Given the description of an element on the screen output the (x, y) to click on. 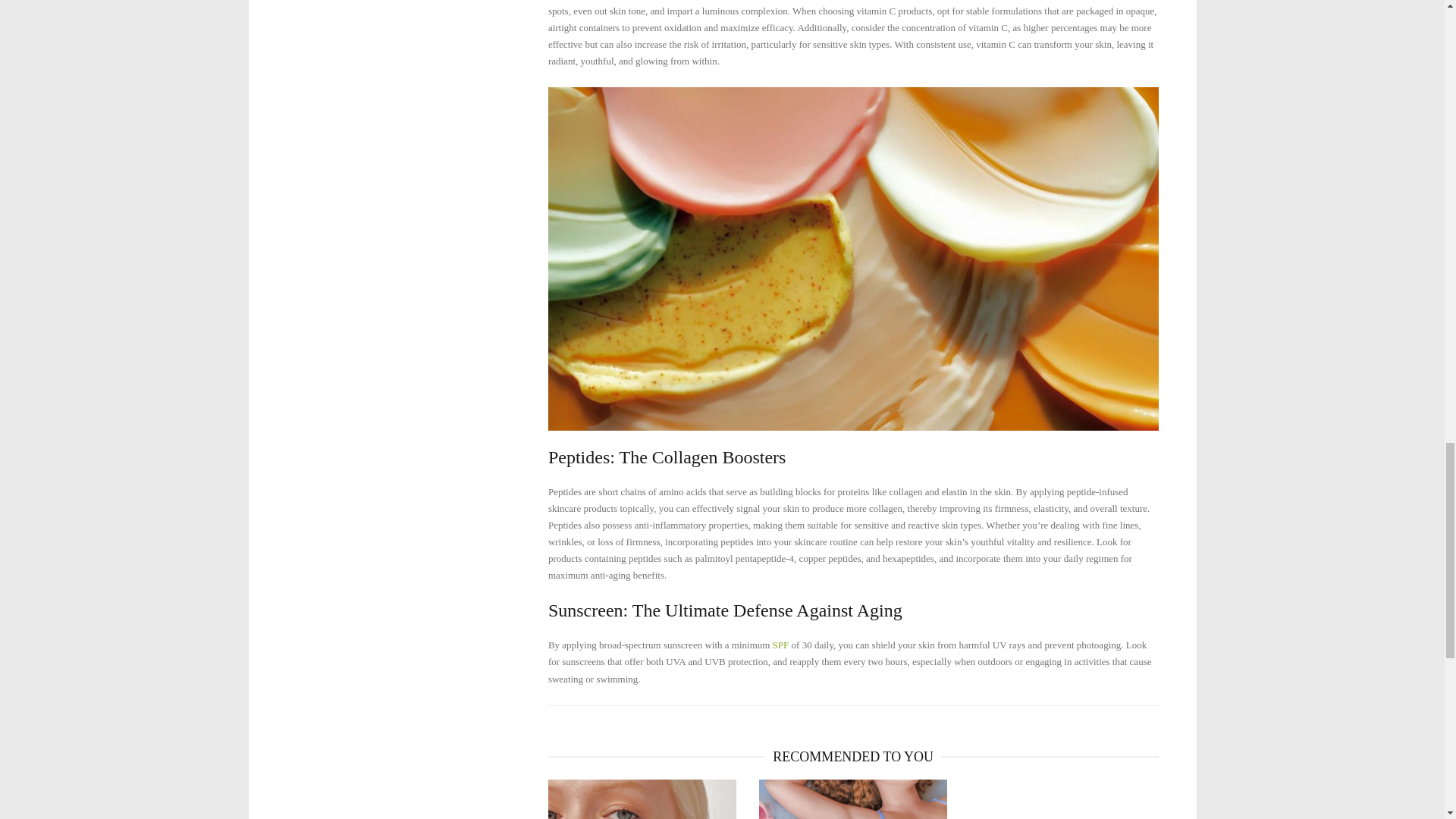
SPF (781, 644)
Easy Ways to Incorporate SPF into Your Daily Routine (642, 799)
Tips for Preventing and Treating Ingrown Hairs (852, 799)
